Given the description of an element on the screen output the (x, y) to click on. 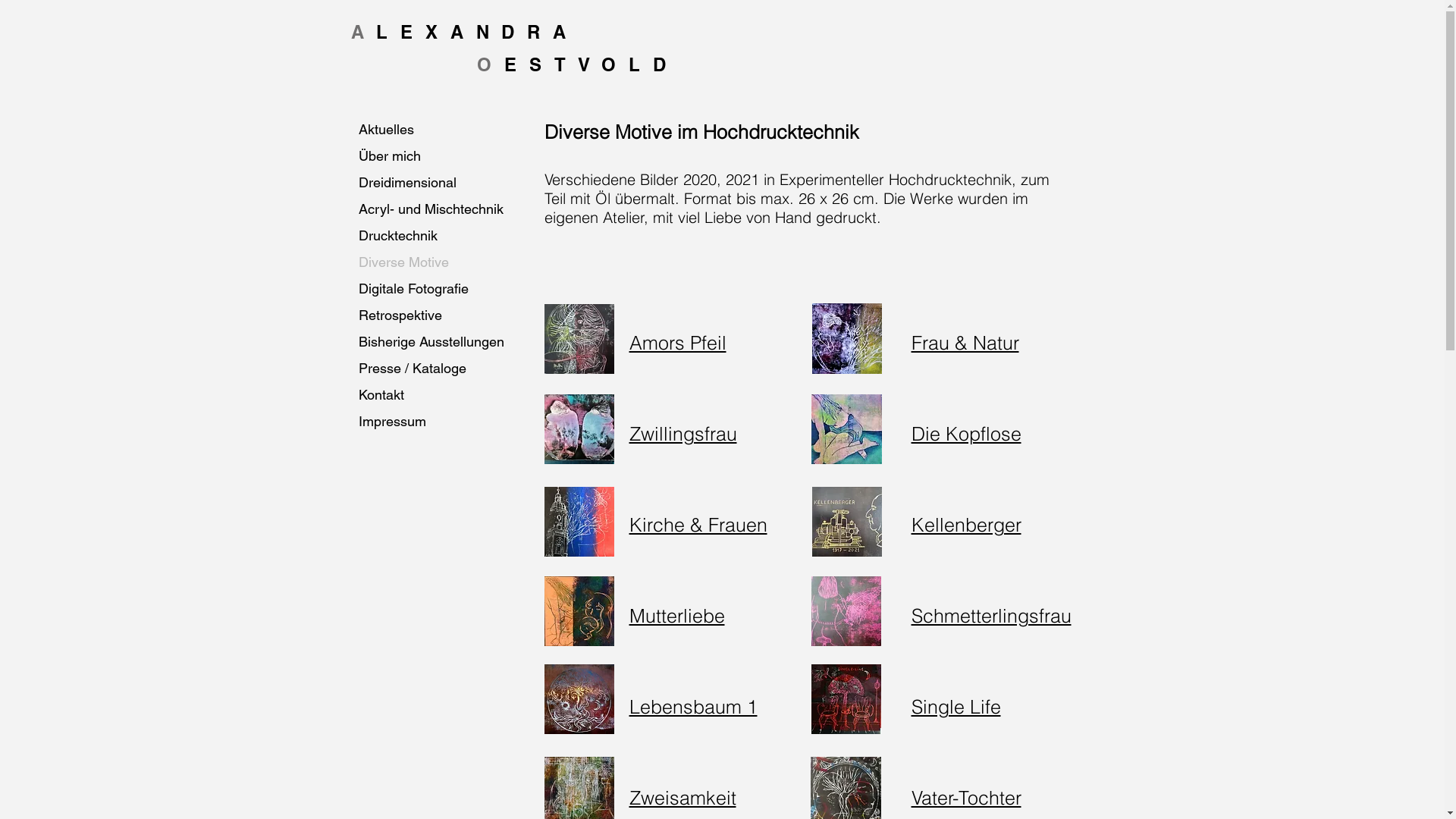
Kontakt Element type: text (442, 394)
Amors Pfeil Element type: text (677, 342)
Retrospektive Element type: text (442, 314)
Presse / Kataloge Element type: text (442, 367)
Bisherige Ausstellungen Element type: text (442, 341)
Frau & Natur Element type: text (965, 342)
Mutterliebe Element type: text (676, 615)
Diverse Motive Element type: text (442, 261)
Schmetterlingsfrau Element type: text (991, 615)
Single Life Element type: text (956, 706)
Zwillingsfrau Element type: text (683, 433)
Impressum Element type: text (442, 420)
Digitale Fotografie Element type: text (442, 288)
Drucktechnik Element type: text (442, 235)
Kellenberger Element type: text (966, 524)
Dreidimensional Element type: text (442, 182)
Acryl- und Mischtechnik Element type: text (442, 208)
Kirche & Frauen Element type: text (698, 524)
Die Kopflose Element type: text (966, 433)
Lebensbaum 1 Element type: text (693, 706)
Aktuelles Element type: text (442, 129)
Diverse Motive im Hochdrucktechnik Element type: text (701, 131)
ALEXANDRA  Element type: text (473, 31)
Vater-Tochter Element type: text (966, 797)
Zweisamkeit Element type: text (682, 797)
